Given the description of an element on the screen output the (x, y) to click on. 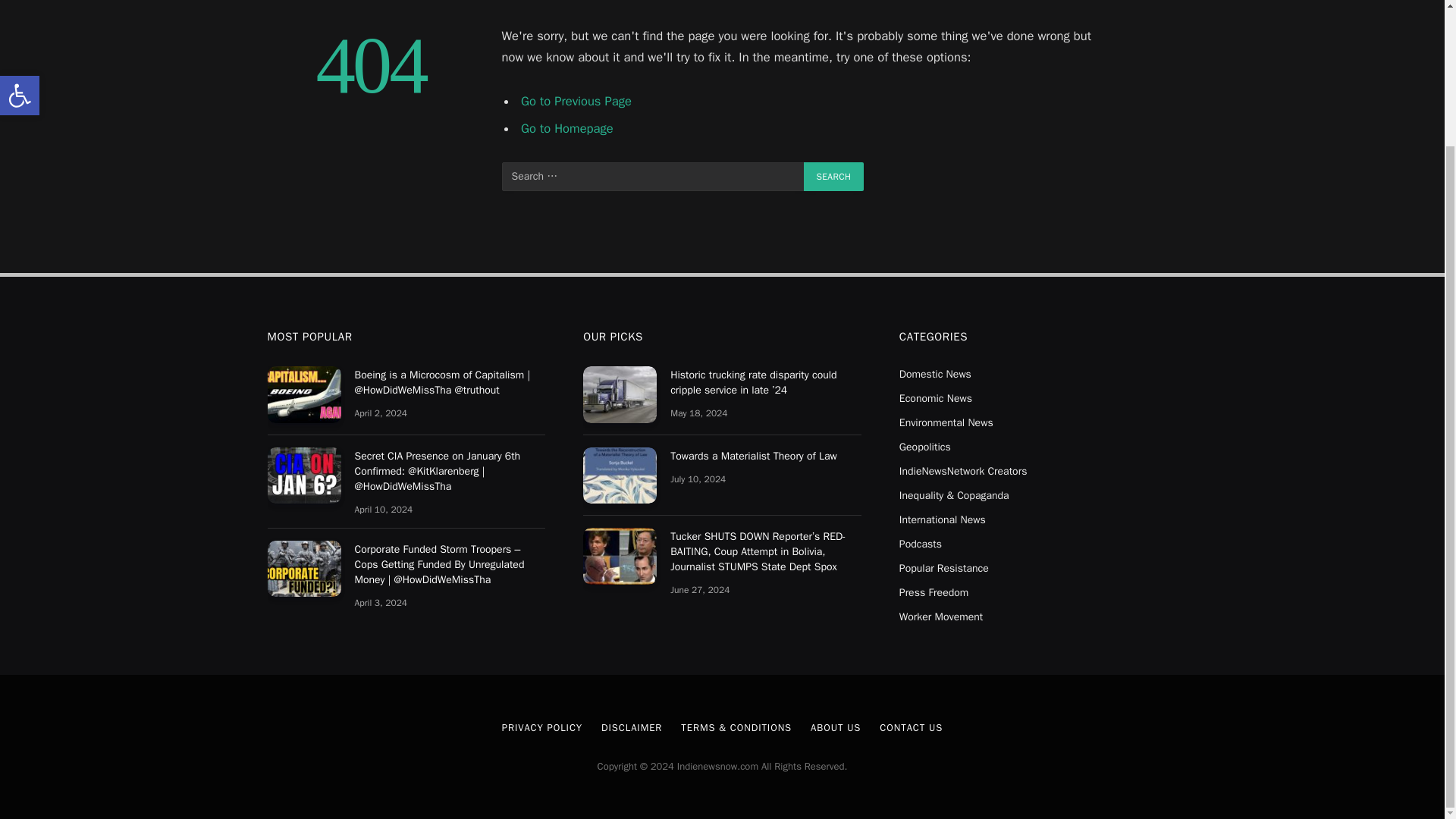
Search (833, 176)
Towards a Materialist Theory of Law (619, 475)
Go to Previous Page (576, 100)
Search (833, 176)
